Given the description of an element on the screen output the (x, y) to click on. 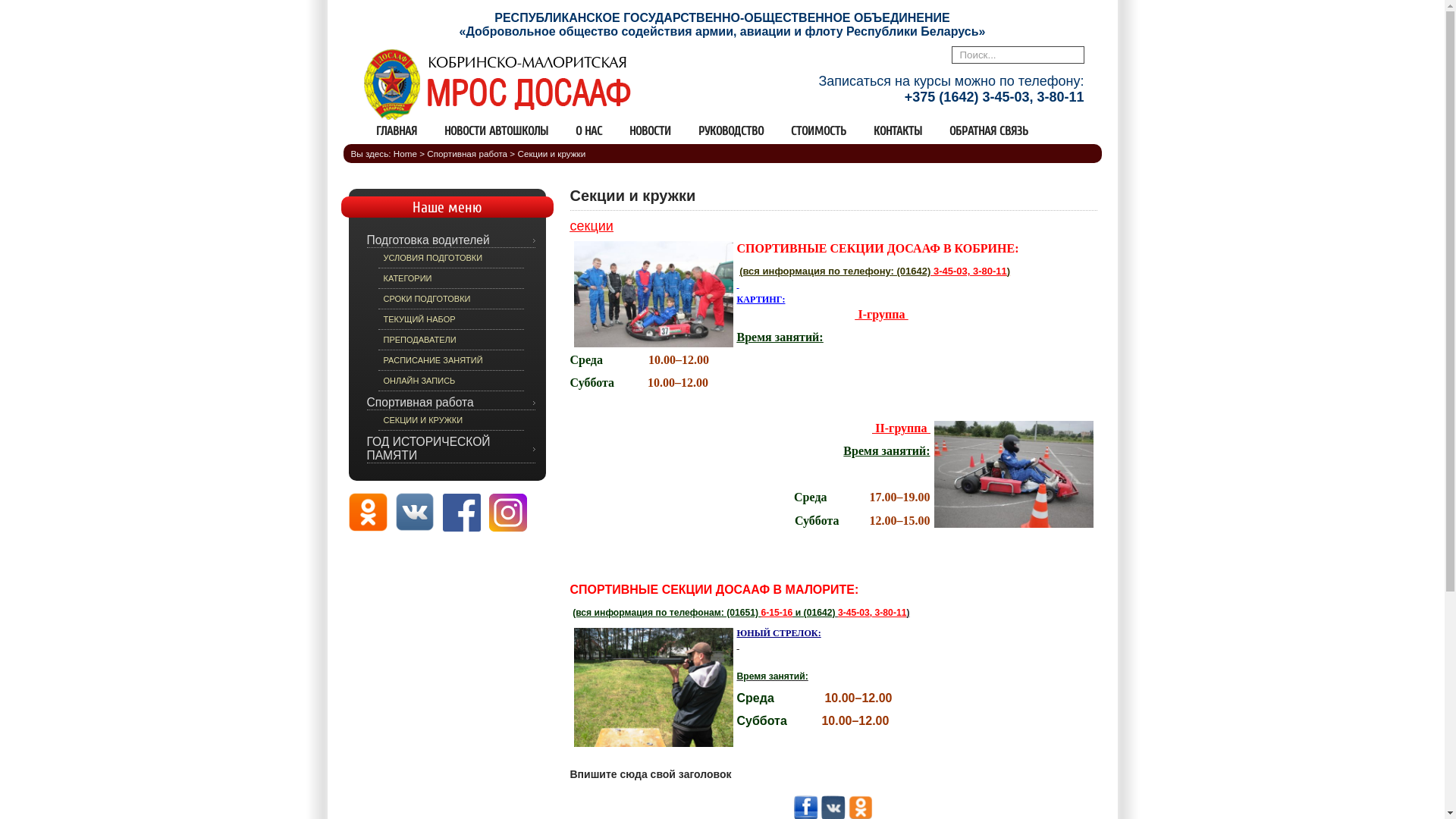
Home Element type: text (405, 153)
